Given the description of an element on the screen output the (x, y) to click on. 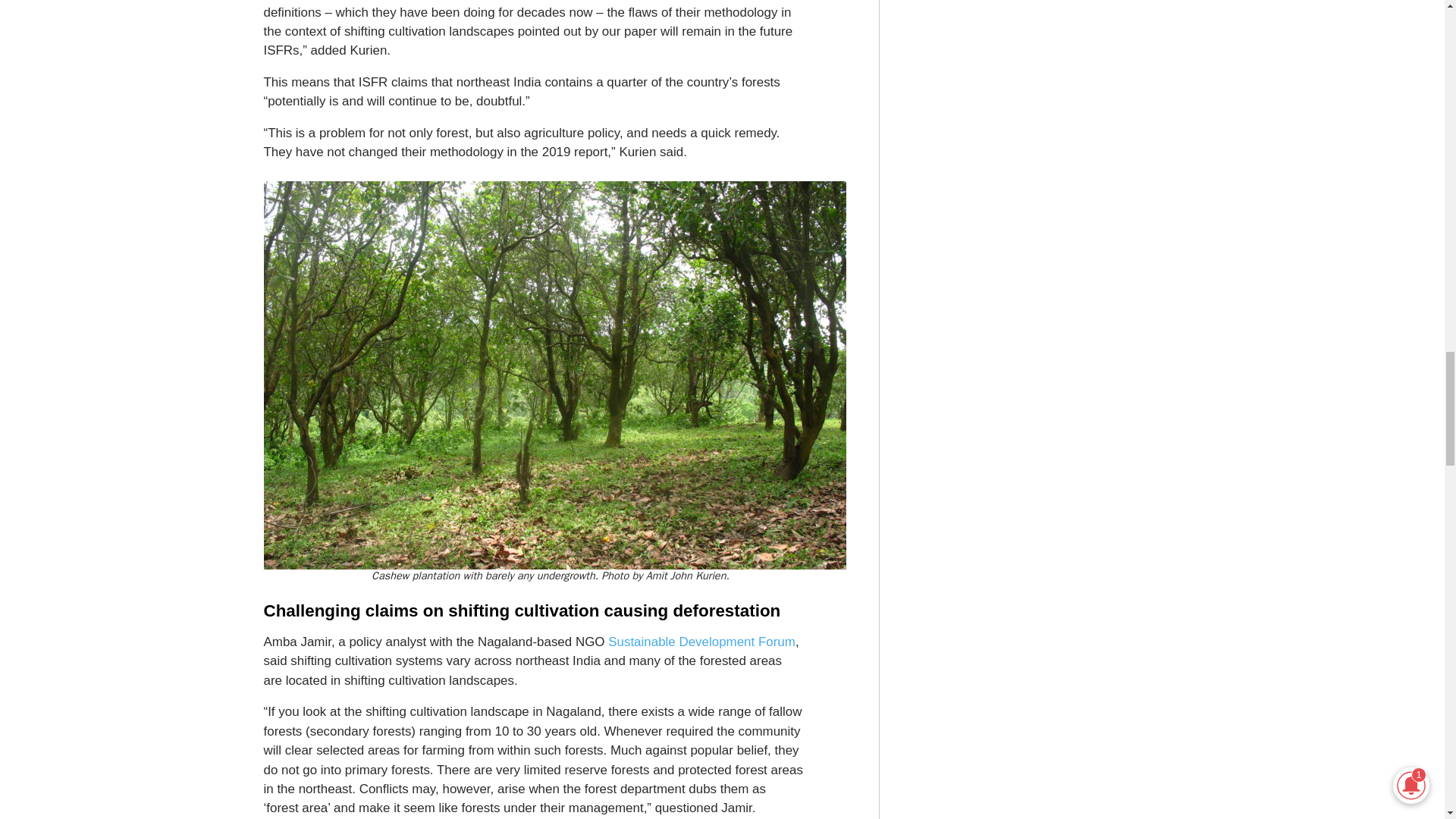
Sustainable Development Forum (701, 641)
